Given the description of an element on the screen output the (x, y) to click on. 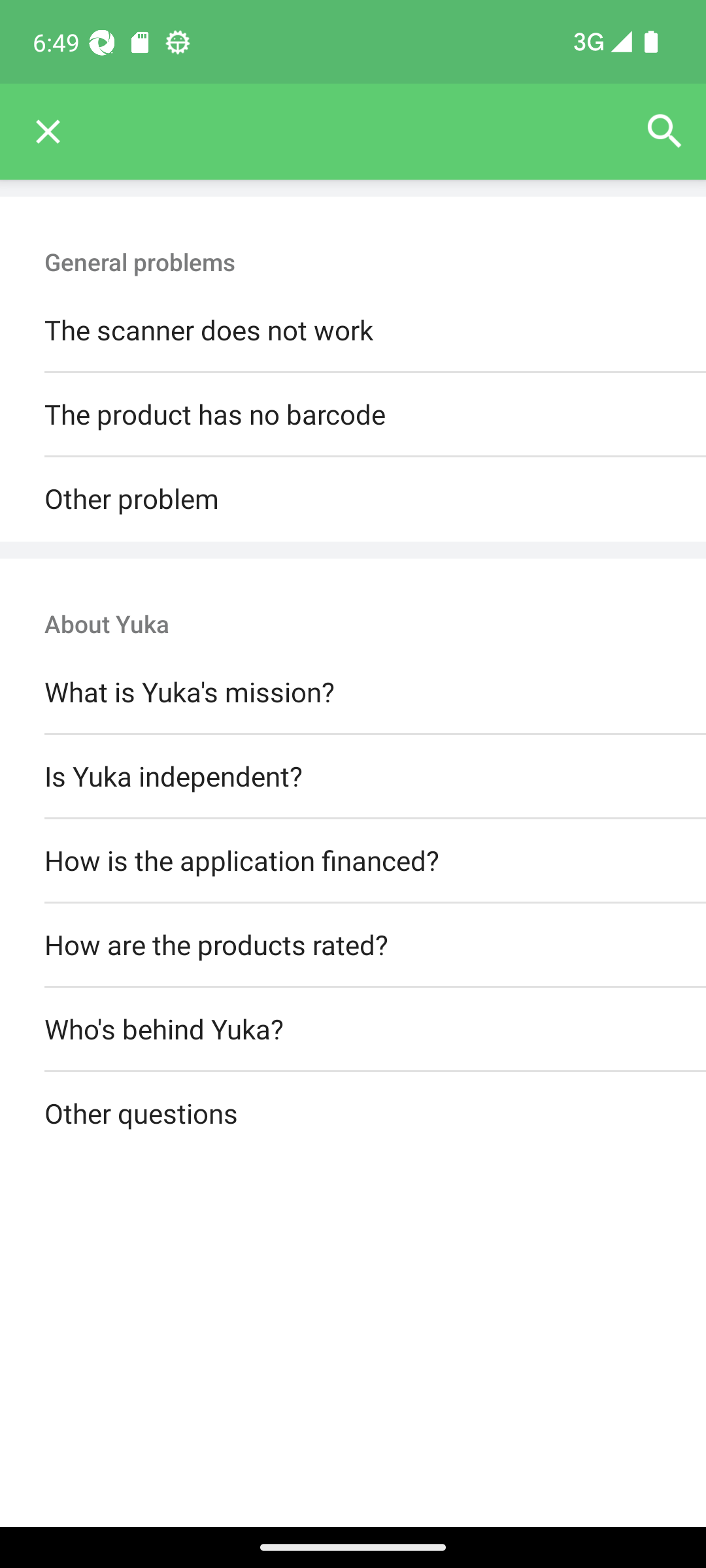
Search (664, 131)
The scanner does not work (353, 330)
The product has no barcode (353, 415)
Other problem (353, 498)
What is Yuka's mission? (353, 692)
Is Yuka independent? (353, 776)
How is the application financed? (353, 860)
How are the products rated? (353, 945)
Who's behind Yuka? (353, 1029)
Other questions (353, 1114)
